Given the description of an element on the screen output the (x, y) to click on. 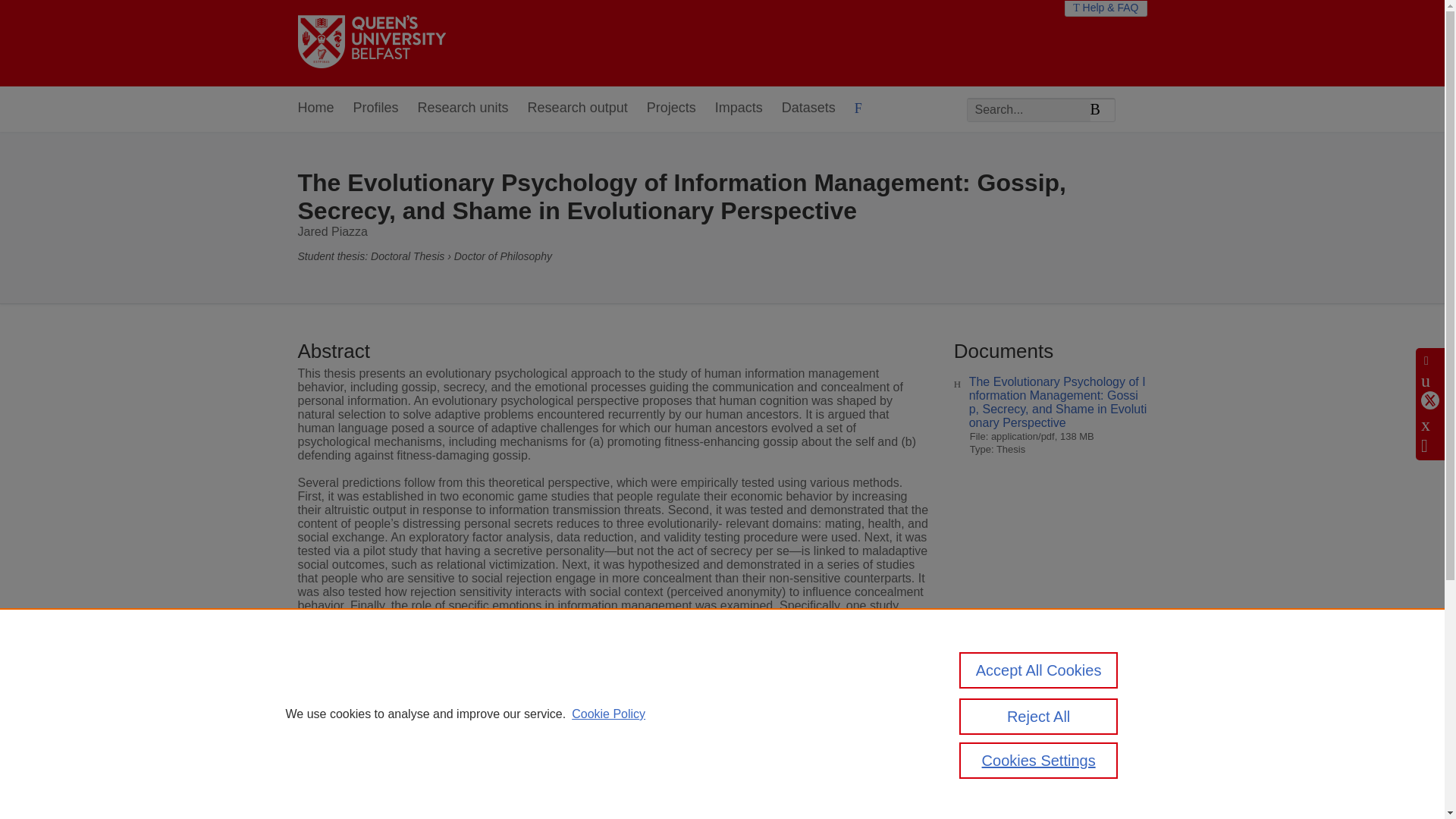
Reject All (1038, 716)
Accept All Cookies (1038, 669)
Research output (577, 108)
Datasets (808, 108)
Projects (670, 108)
Cookie Policy (608, 713)
Research units (462, 108)
Impacts (738, 108)
